Given the description of an element on the screen output the (x, y) to click on. 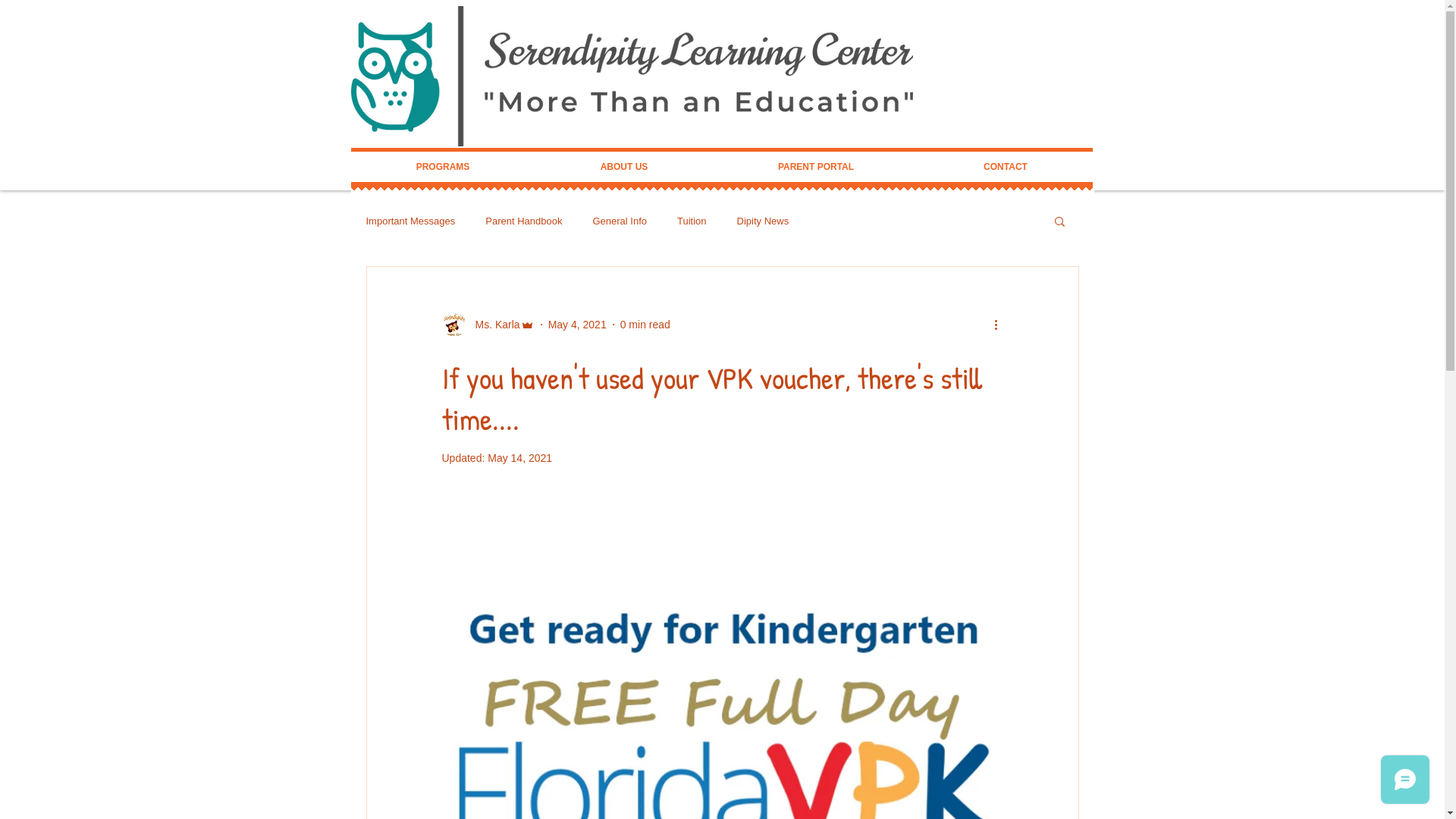
Tuition Element type: text (691, 220)
Ms. Karla Element type: text (487, 324)
Parent Handbook Element type: text (523, 220)
Important Messages Element type: text (410, 220)
PROGRAMS Element type: text (442, 166)
ABOUT US Element type: text (624, 166)
General Info Element type: text (619, 220)
Dipity News Element type: text (763, 220)
CONTACT Element type: text (1005, 166)
PARENT PORTAL Element type: text (815, 166)
